Given the description of an element on the screen output the (x, y) to click on. 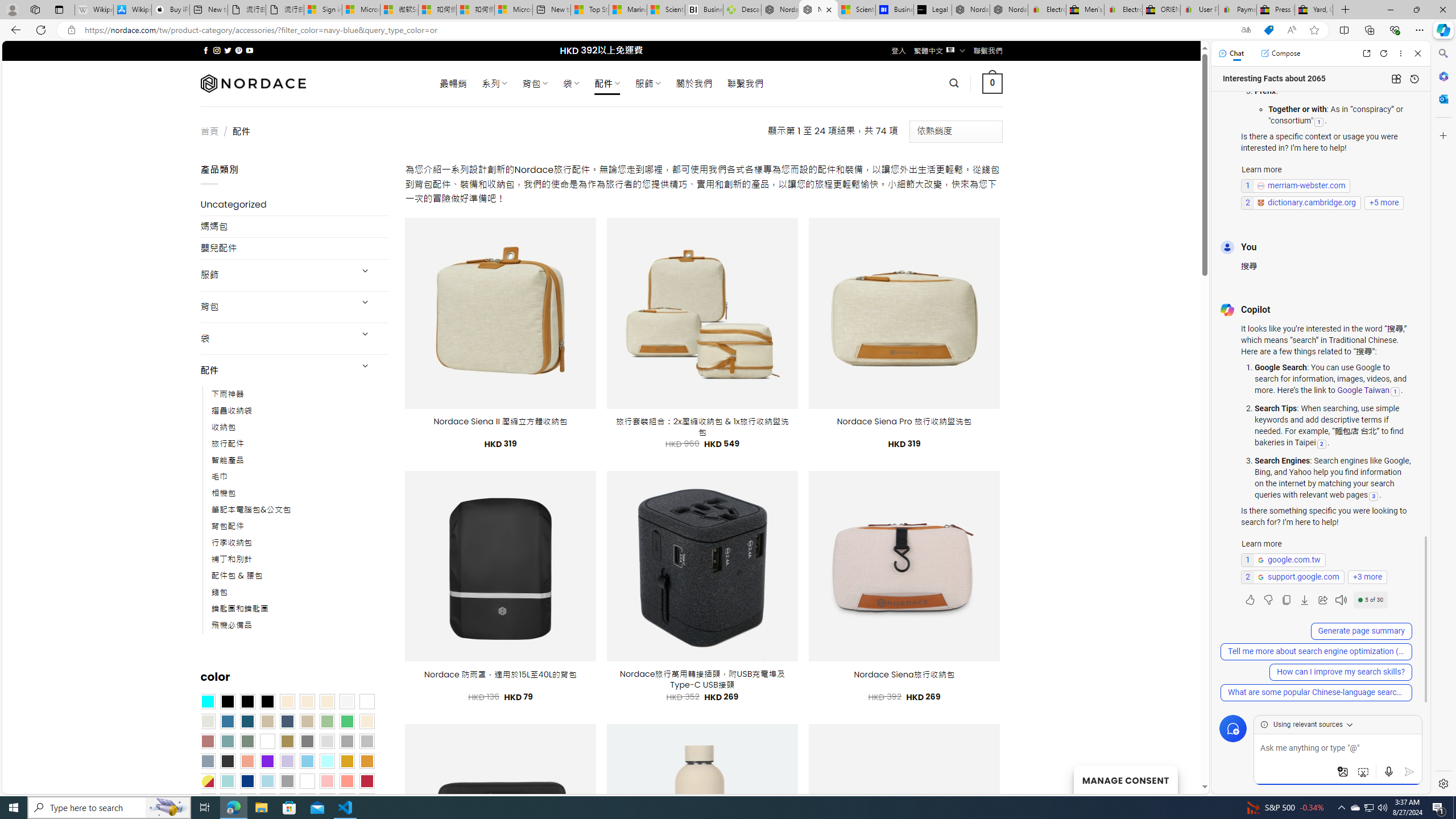
Follow on Facebook (205, 50)
